Given the description of an element on the screen output the (x, y) to click on. 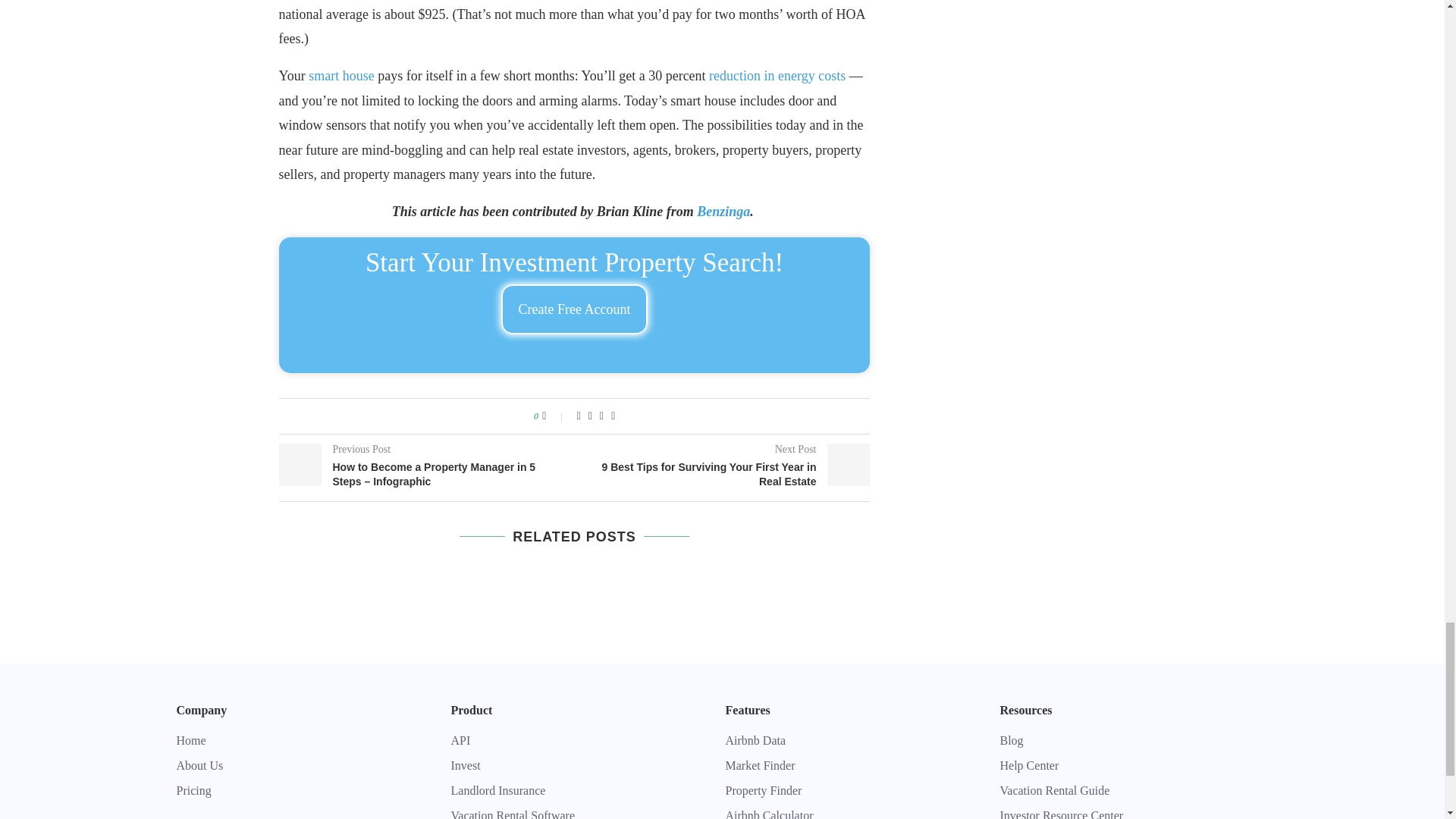
smart house (341, 75)
reduction in energy costs (777, 75)
Like (553, 416)
Benzinga (723, 211)
